Given the description of an element on the screen output the (x, y) to click on. 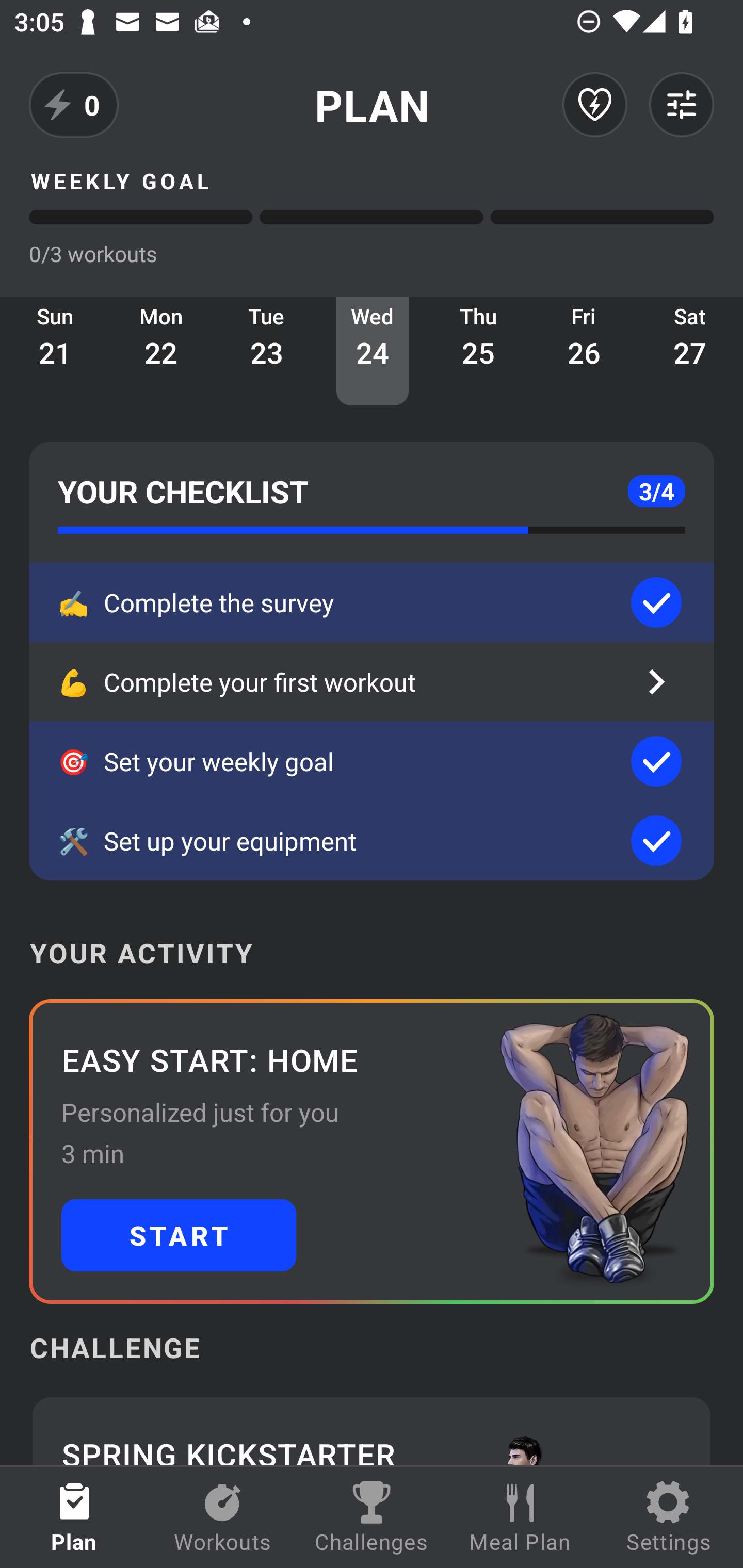
0 (73, 104)
Sun 21 (55, 351)
Mon 22 (160, 351)
Tue 23 (266, 351)
Wed 24 (372, 351)
Thu 25 (478, 351)
Fri 26 (584, 351)
Sat 27 (690, 351)
💪 Complete your first workout (371, 681)
START (178, 1235)
 Workouts  (222, 1517)
 Challenges  (371, 1517)
 Meal Plan  (519, 1517)
 Settings  (668, 1517)
